Given the description of an element on the screen output the (x, y) to click on. 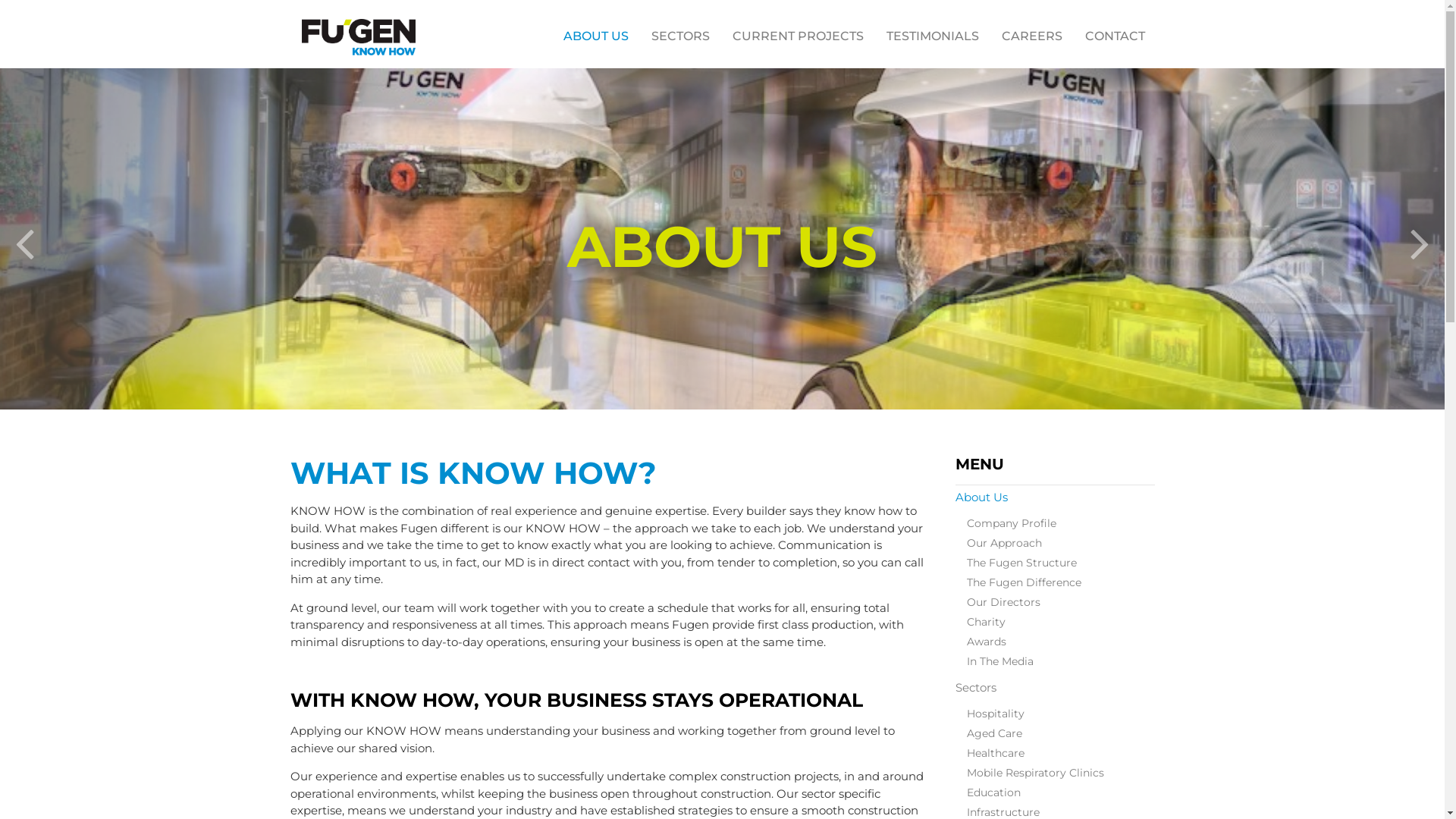
Our Approach Element type: text (1060, 543)
Hospitality Element type: text (1060, 713)
CONTACT Element type: text (1114, 35)
CAREERS Element type: text (1031, 35)
SECTORS Element type: text (680, 35)
ABOUT US Element type: text (596, 35)
Sectors Element type: text (1054, 686)
About Us Element type: text (1054, 497)
Awards Element type: text (1060, 642)
Healthcare Element type: text (1060, 752)
The Fugen Difference Element type: text (1060, 583)
Mobile Respiratory Clinics Element type: text (1060, 772)
Charity Element type: text (1060, 622)
CURRENT PROJECTS Element type: text (797, 35)
Aged Care Element type: text (1060, 733)
The Fugen Structure Element type: text (1060, 563)
TESTIMONIALS Element type: text (932, 35)
Our Directors Element type: text (1060, 602)
In The Media Element type: text (1060, 661)
Company Profile Element type: text (1060, 523)
Education Element type: text (1060, 792)
